Given the description of an element on the screen output the (x, y) to click on. 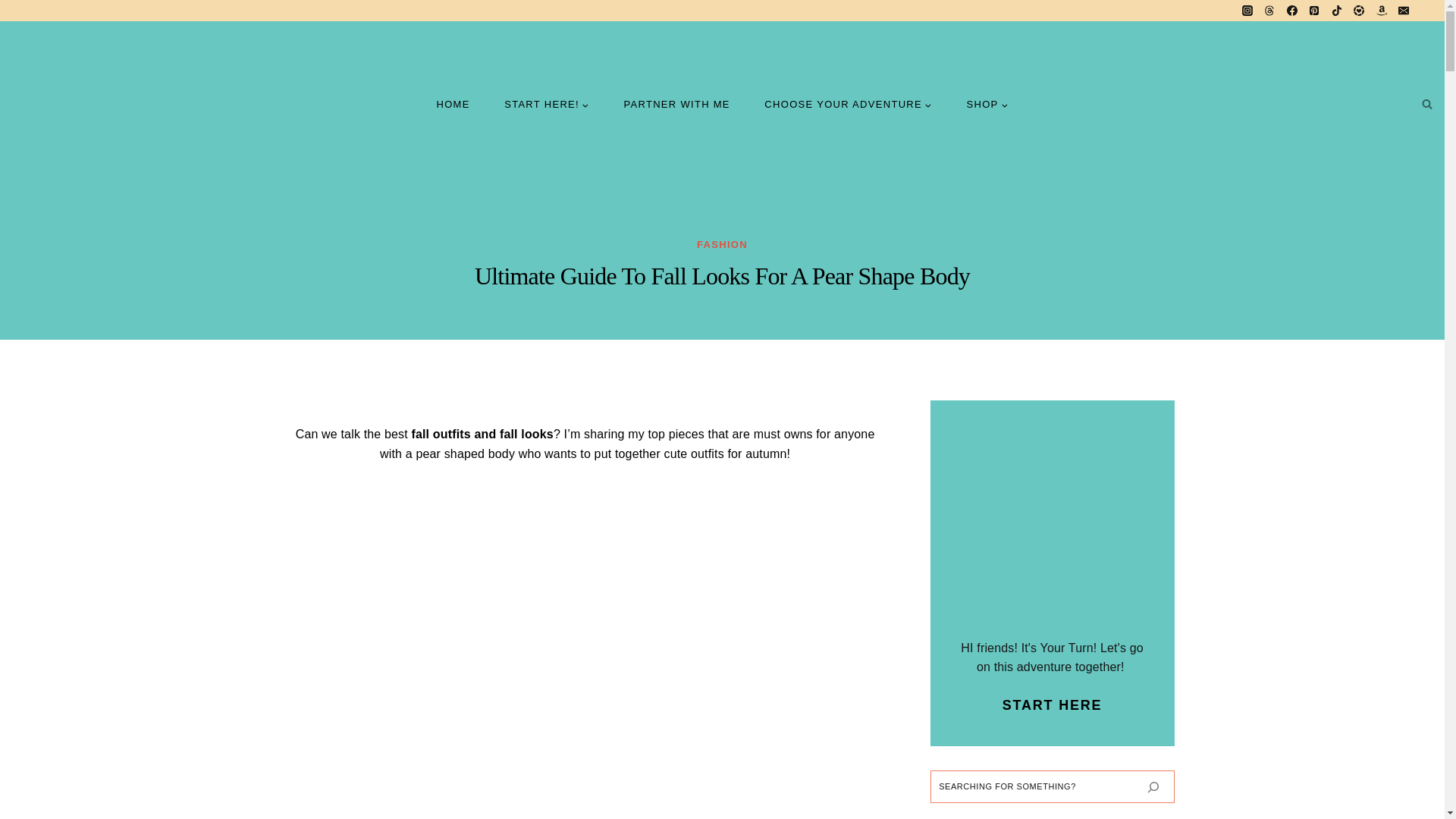
CHOOSE YOUR ADVENTURE (848, 104)
START HERE! (545, 104)
HOME (453, 104)
FASHION (722, 244)
SHOP (987, 104)
PARTNER WITH ME (677, 104)
